Given the description of an element on the screen output the (x, y) to click on. 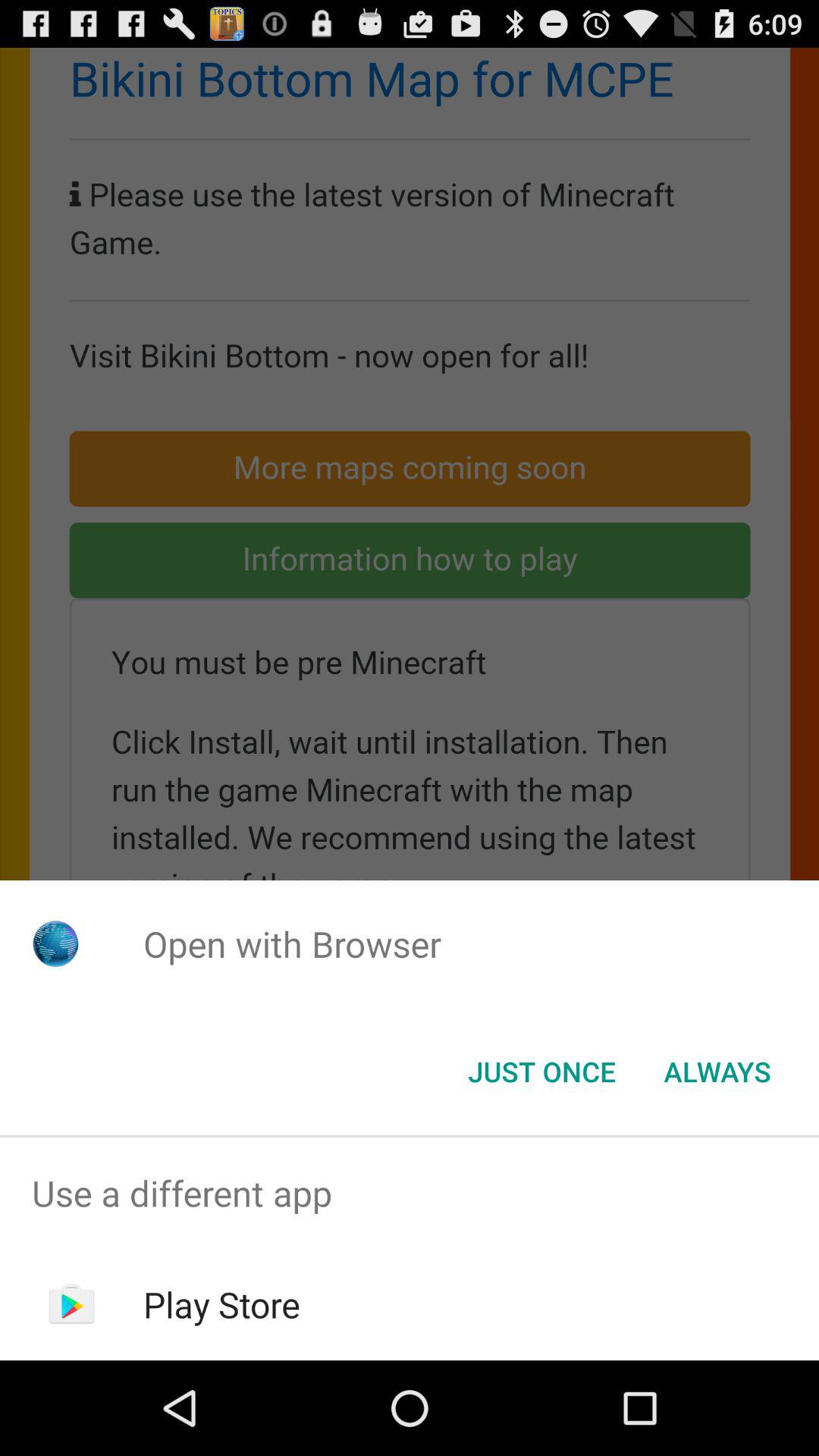
turn on the item next to the always (541, 1071)
